Given the description of an element on the screen output the (x, y) to click on. 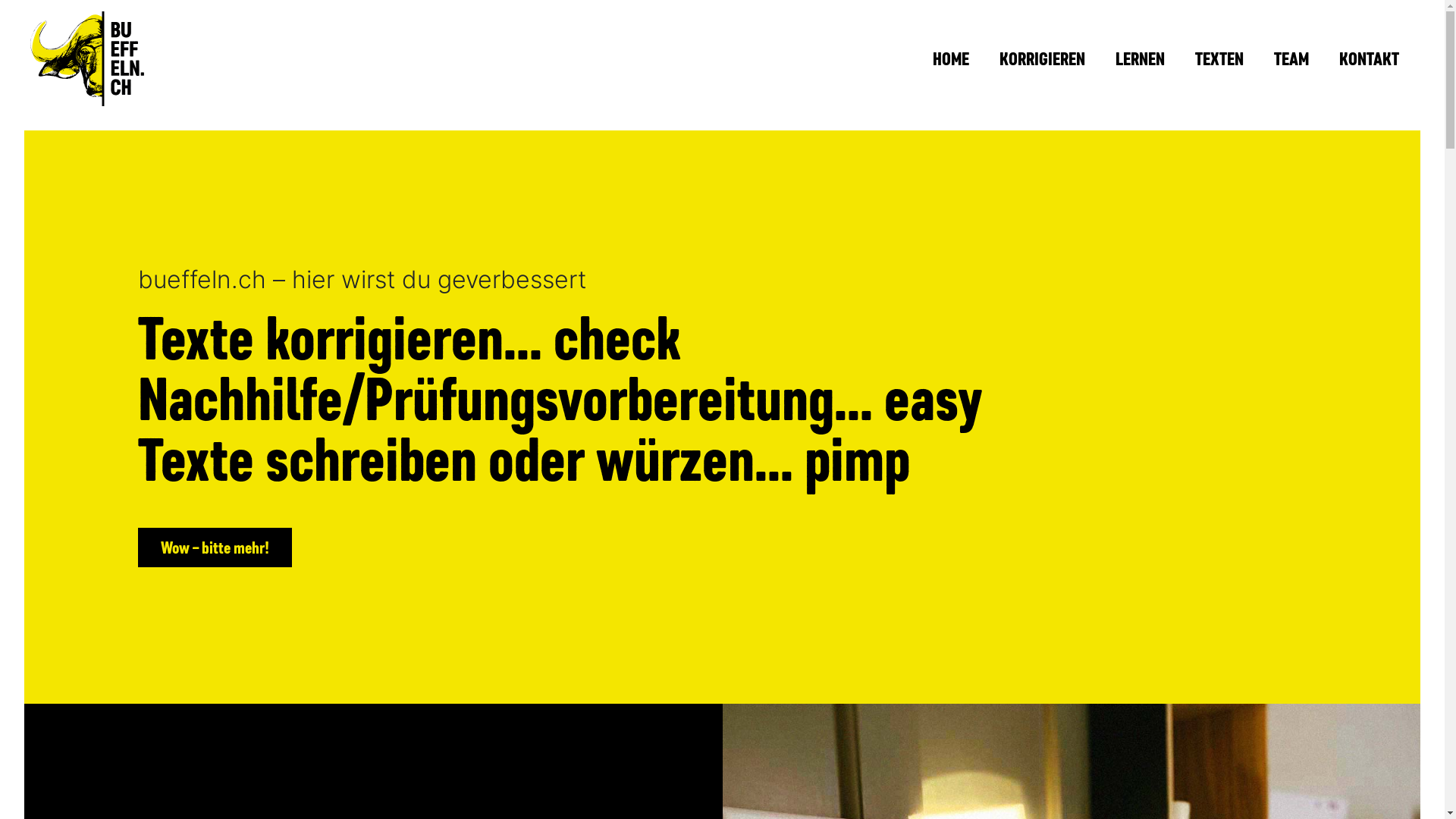
TEXTEN Element type: text (1218, 59)
KORRIGIEREN Element type: text (1042, 59)
KONTAKT Element type: text (1369, 59)
TEAM Element type: text (1291, 59)
HOME Element type: text (950, 59)
Texte korrigieren... check Element type: text (409, 337)
LERNEN Element type: text (1139, 59)
